Given the description of an element on the screen output the (x, y) to click on. 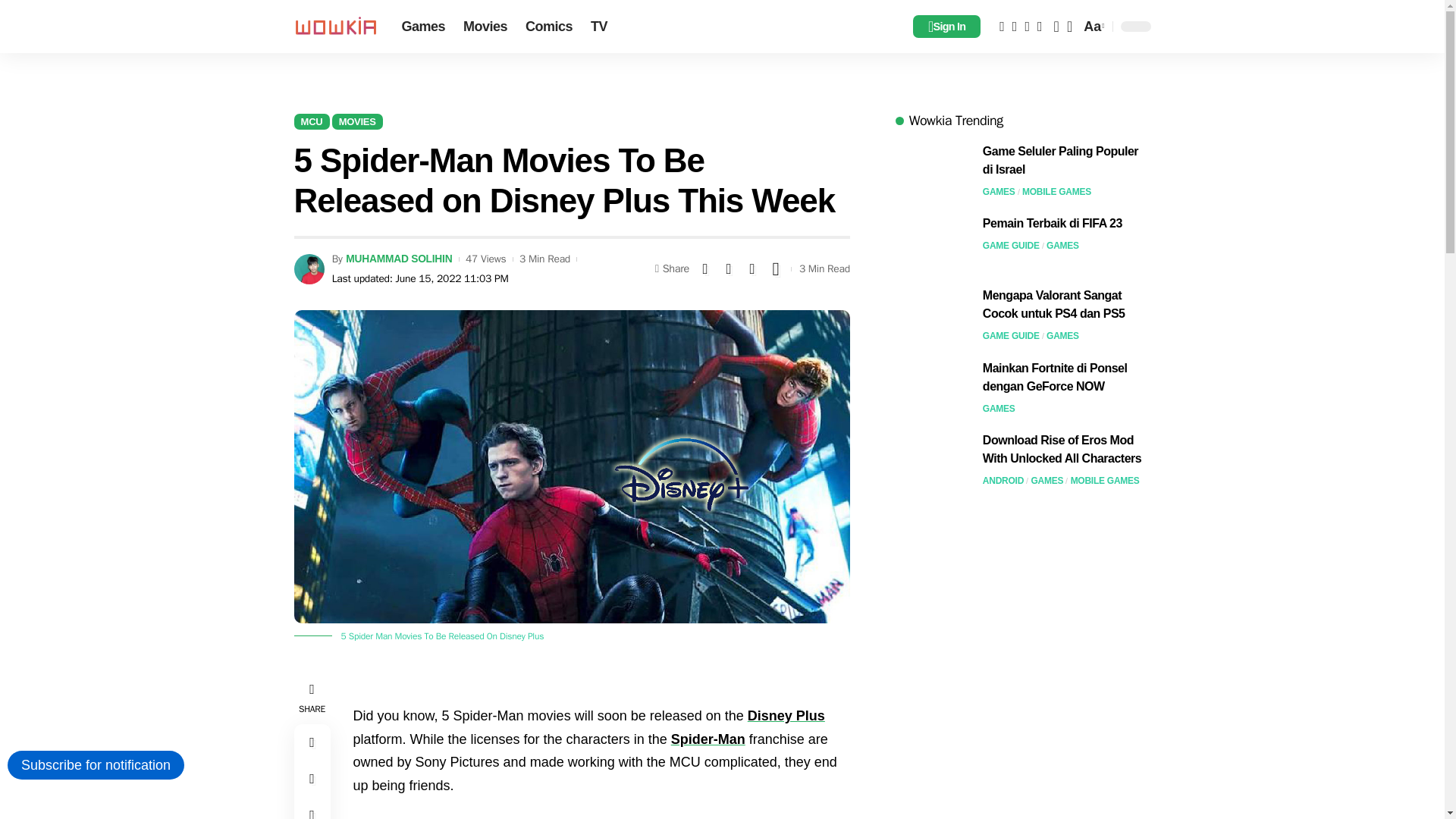
Sign In (945, 26)
Wowkia.com (335, 25)
Game Seluler Paling Populer di Israel (933, 170)
Mengapa Valorant Sangat Cocok untuk PS4 dan PS5 (933, 314)
Download Rise of Eros Mod With Unlocked All Characters (933, 459)
MOVIES (356, 121)
Disney Plus (786, 715)
Games (423, 26)
MUHAMMAD SOLIHIN (398, 258)
Mainkan Fortnite di Ponsel dengan GeForce NOW (933, 387)
Spider-Man (708, 739)
Aa (1091, 26)
Pemain Terbaik di FIFA 23 (933, 242)
Comics (548, 26)
Movies (485, 26)
